Given the description of an element on the screen output the (x, y) to click on. 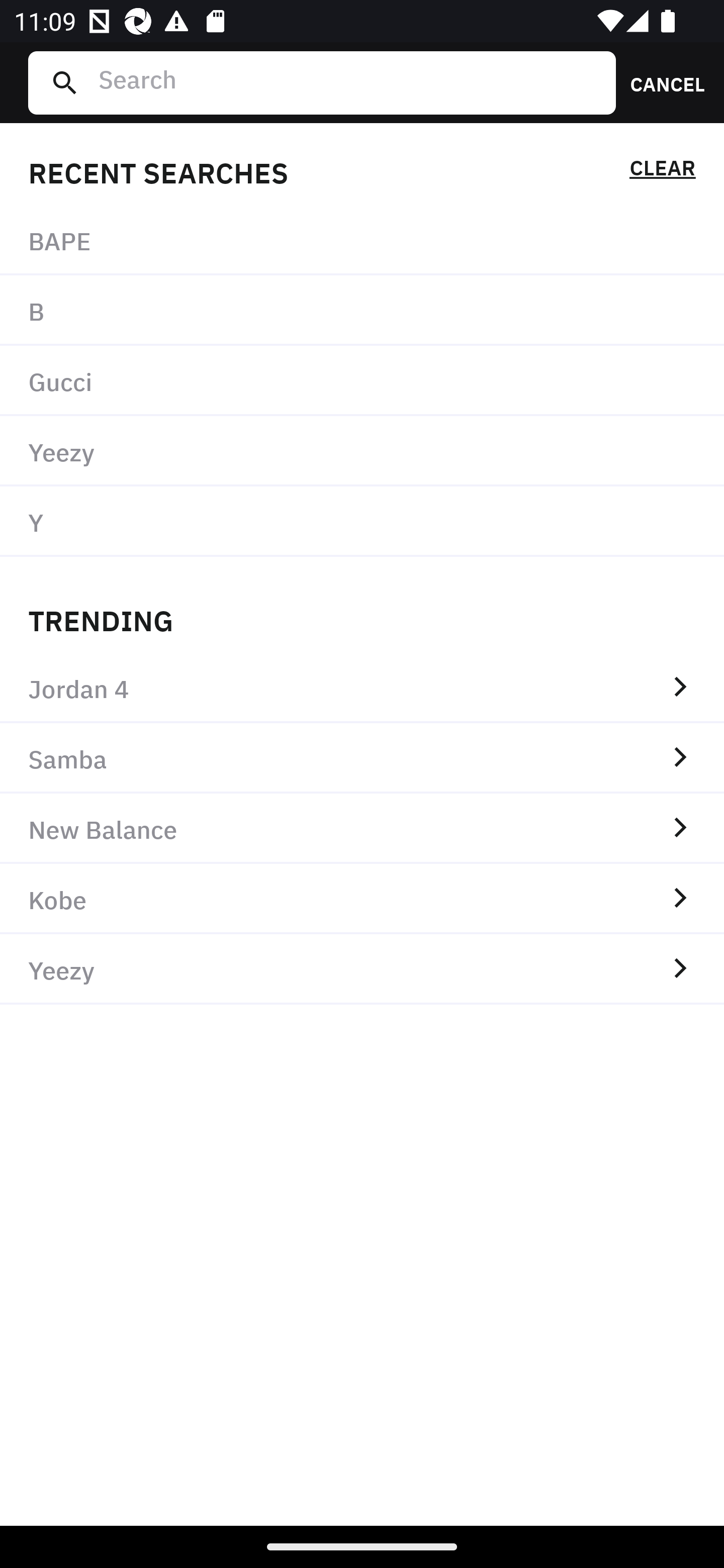
CANCEL (660, 82)
Search (349, 82)
CLEAR (662, 170)
BAPE (362, 240)
B (362, 310)
Gucci (362, 380)
Yeezy (362, 450)
Y (362, 521)
Jordan 4  (362, 687)
Samba  (362, 757)
New Balance  (362, 828)
Kobe  (362, 898)
Yeezy  (362, 969)
